Given the description of an element on the screen output the (x, y) to click on. 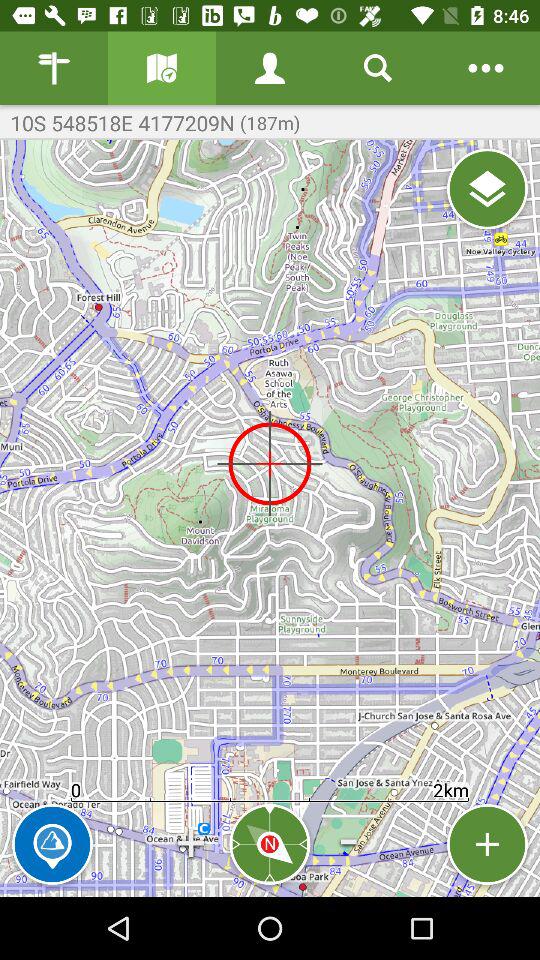
go to increase (487, 844)
